Given the description of an element on the screen output the (x, y) to click on. 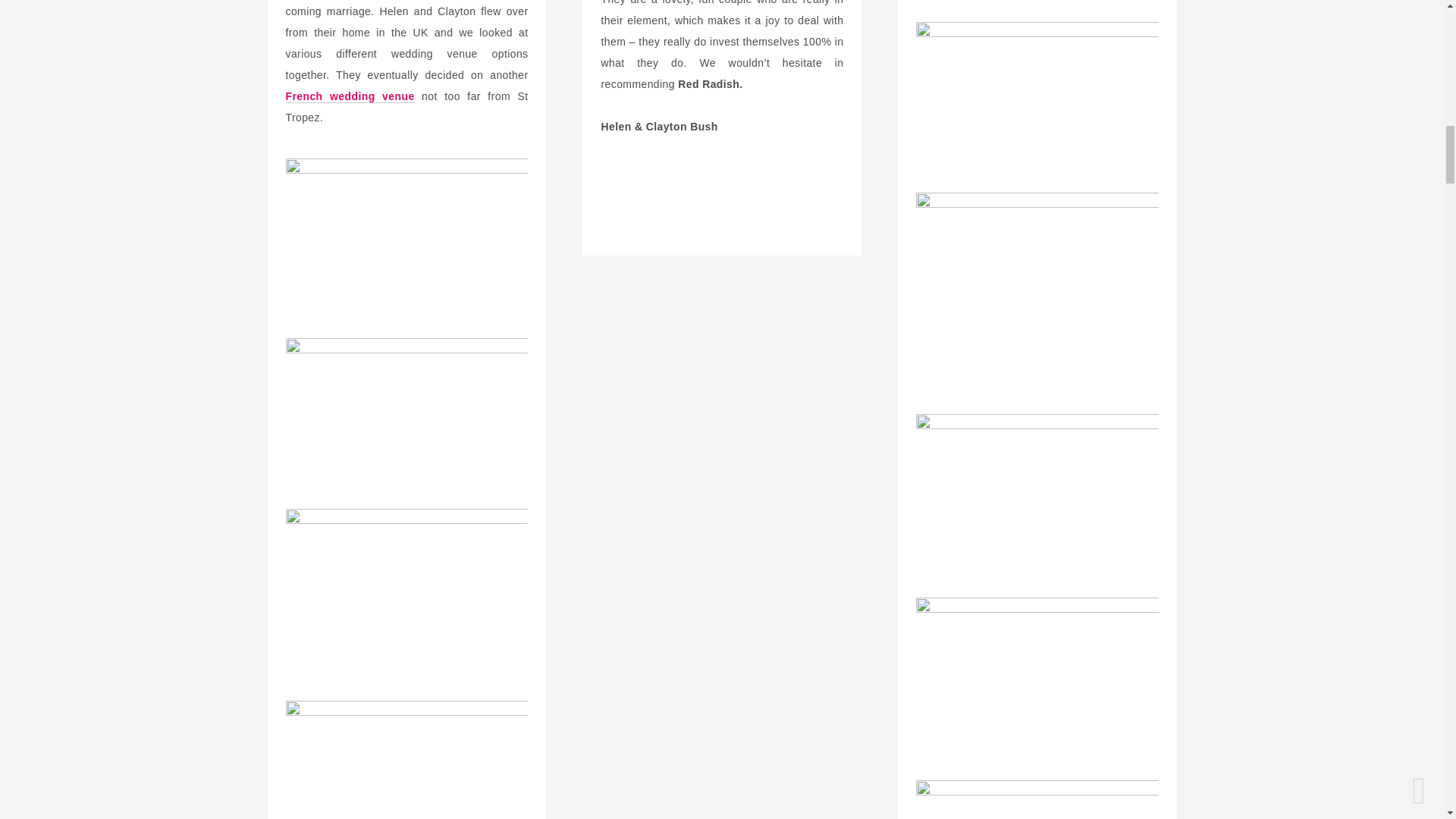
Our friend and Vicar Peter (406, 418)
French Riviera Wedding Venue (349, 96)
French wedding venue (349, 96)
Wedding Fireworks (406, 589)
A beautiful vintage wedding car and the bride and groom (406, 239)
Alan Roberts lead singer with The Blah Blahs (406, 760)
